Given the description of an element on the screen output the (x, y) to click on. 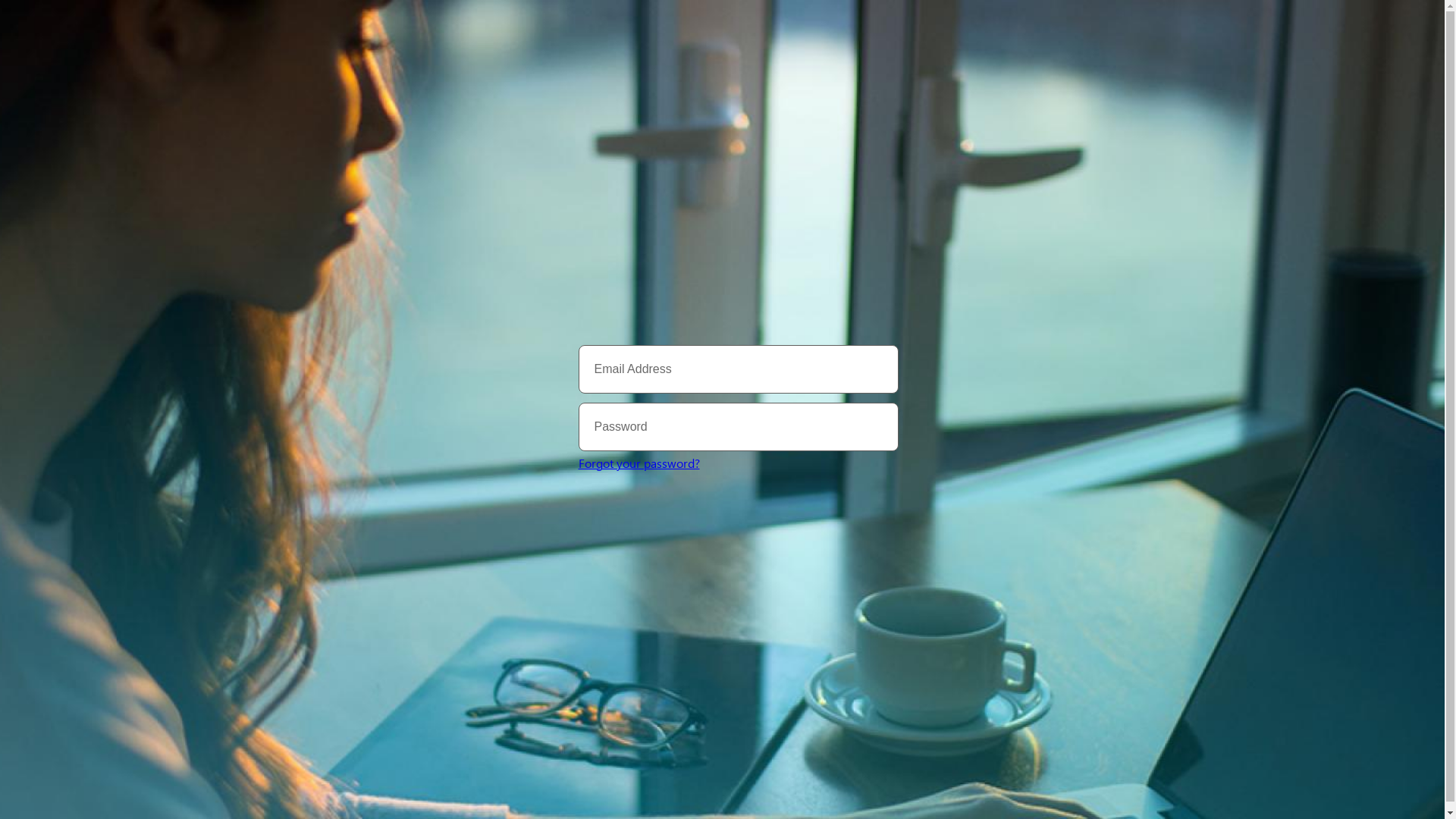
Sign up now Element type: text (745, 530)
Please enter a valid email address. Element type: hover (737, 369)
Sign in Element type: text (668, 510)
Forgot your password? Element type: text (638, 462)
